Given the description of an element on the screen output the (x, y) to click on. 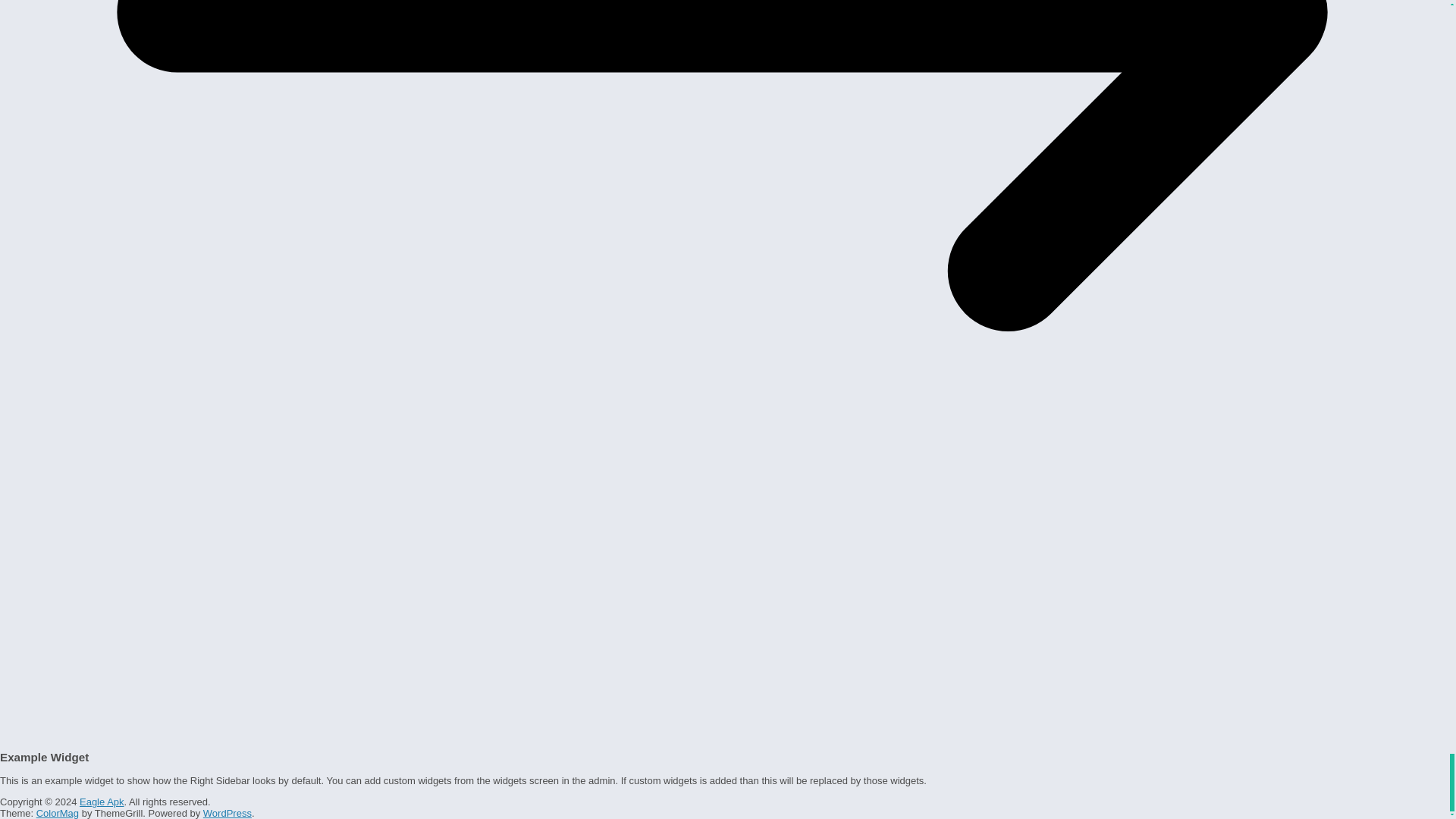
Eagle Apk (101, 801)
Eagle Apk (101, 801)
